Given the description of an element on the screen output the (x, y) to click on. 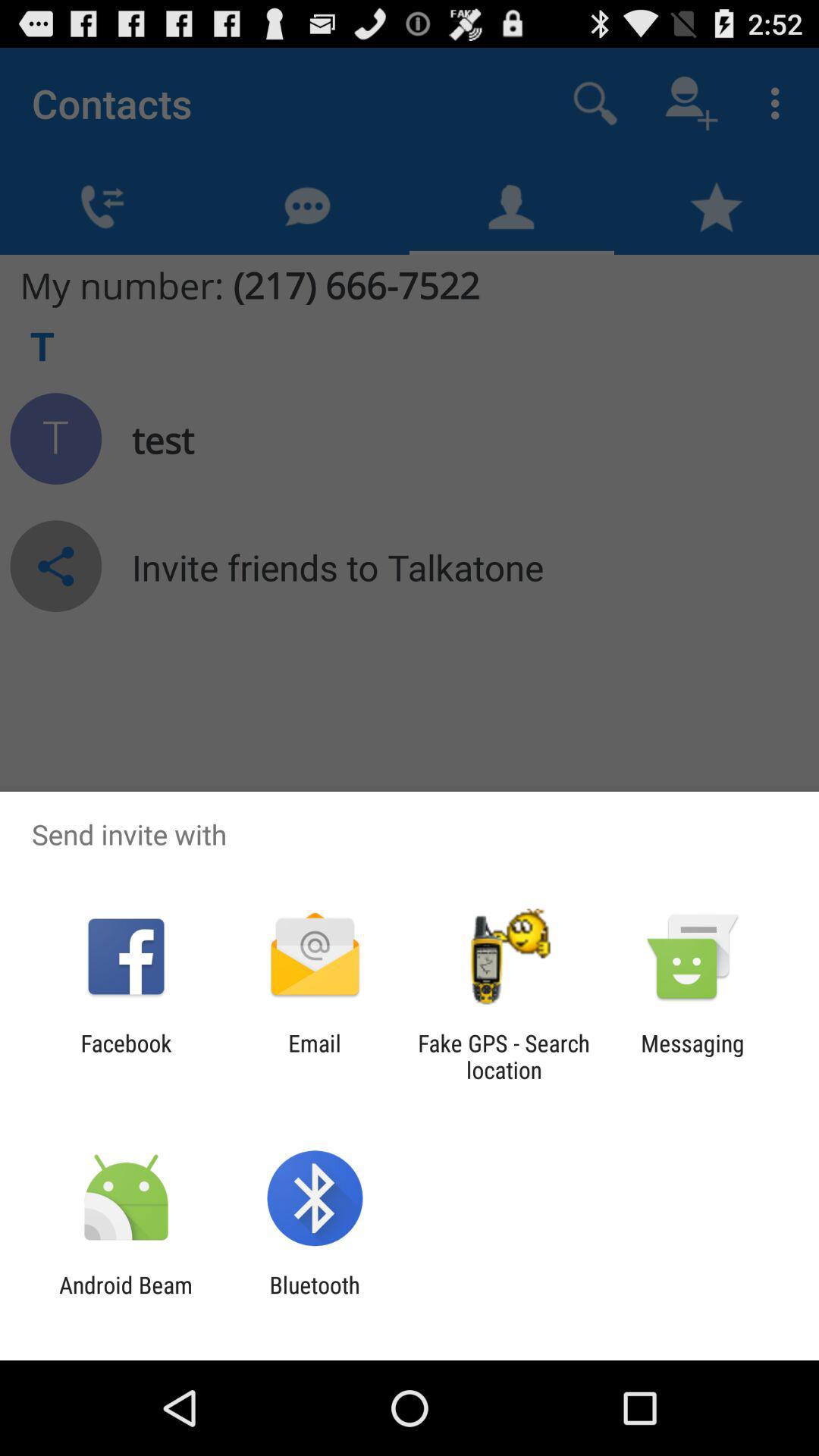
launch the email (314, 1056)
